Given the description of an element on the screen output the (x, y) to click on. 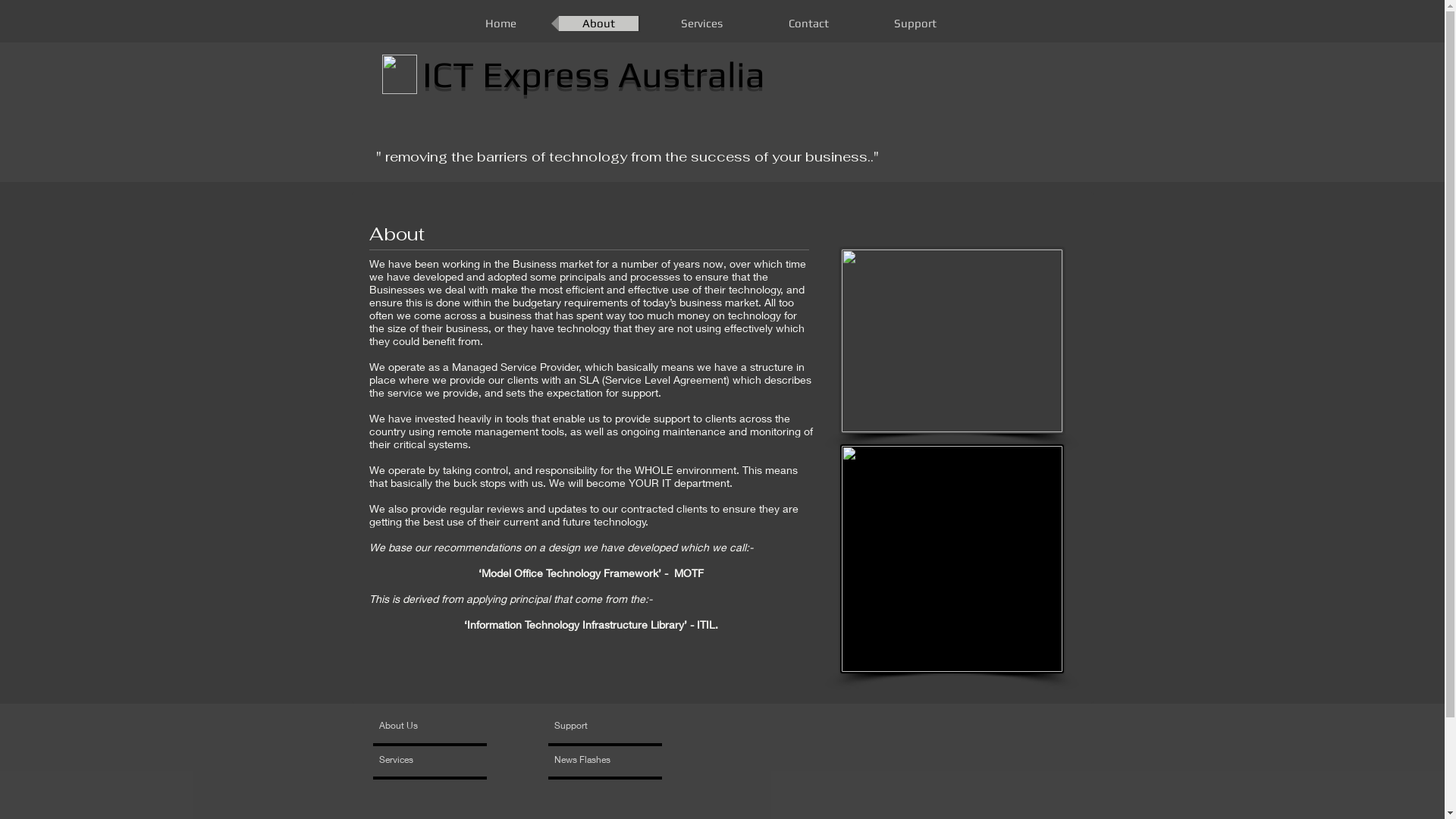
About Element type: text (597, 23)
ID-100203940.jpg Element type: hover (951, 340)
Support Element type: text (589, 726)
News Flashes Element type: text (596, 760)
Services Element type: text (422, 760)
About Us Element type: text (437, 726)
Home Element type: text (499, 23)
Contact Element type: text (807, 23)
Services Element type: text (701, 23)
Support Element type: text (914, 23)
